Given the description of an element on the screen output the (x, y) to click on. 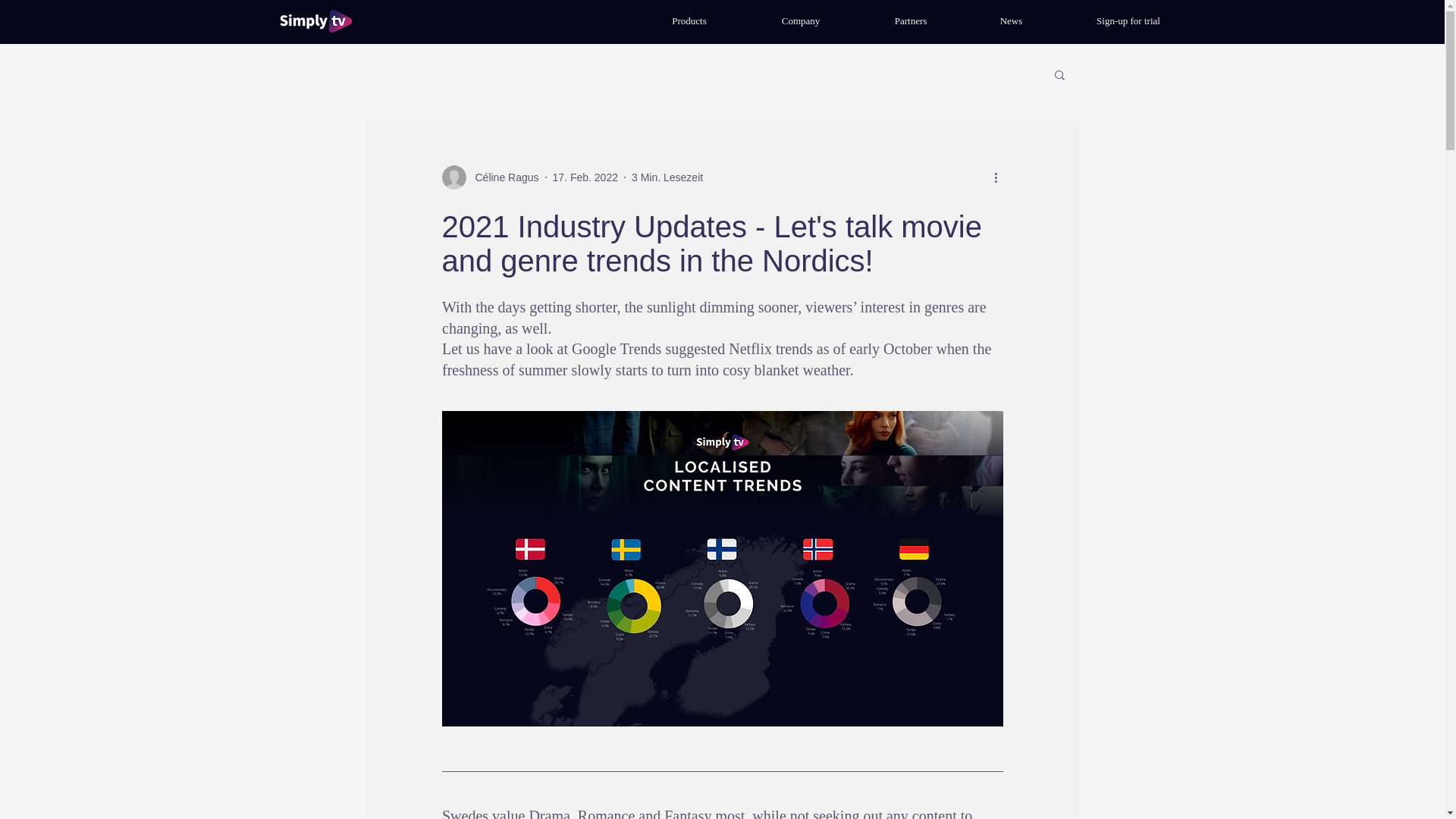
Company (800, 21)
3 Min. Lesezeit (667, 177)
17. Feb. 2022 (585, 177)
Sign-up for trial (1128, 21)
Partners (910, 21)
Products (688, 21)
News (1010, 21)
